Given the description of an element on the screen output the (x, y) to click on. 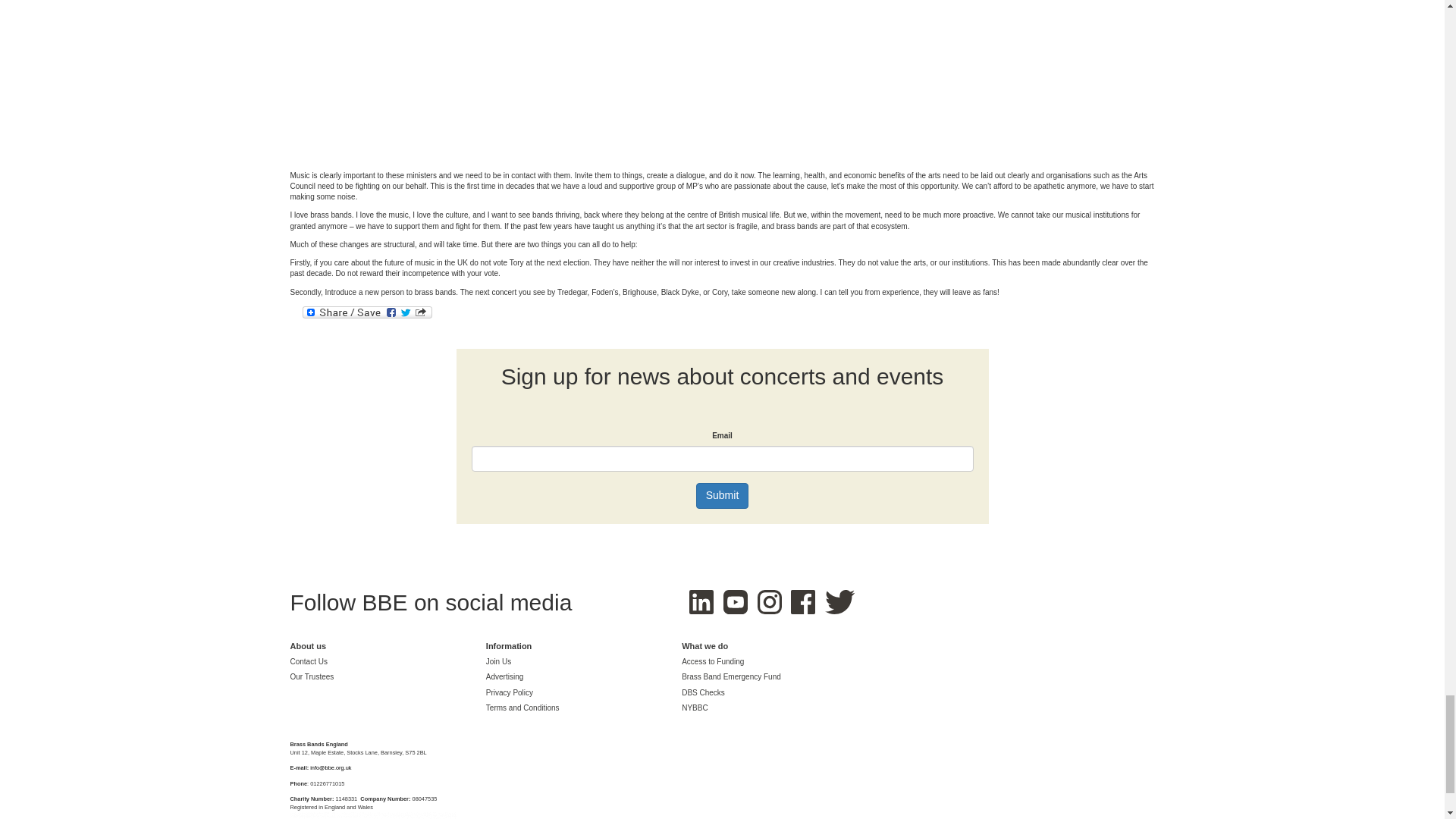
Advertising (504, 677)
YouTube video player (501, 79)
Submit (722, 495)
Join Us (498, 662)
Contact Us (307, 662)
About us (307, 646)
Our Trustees (311, 677)
